Given the description of an element on the screen output the (x, y) to click on. 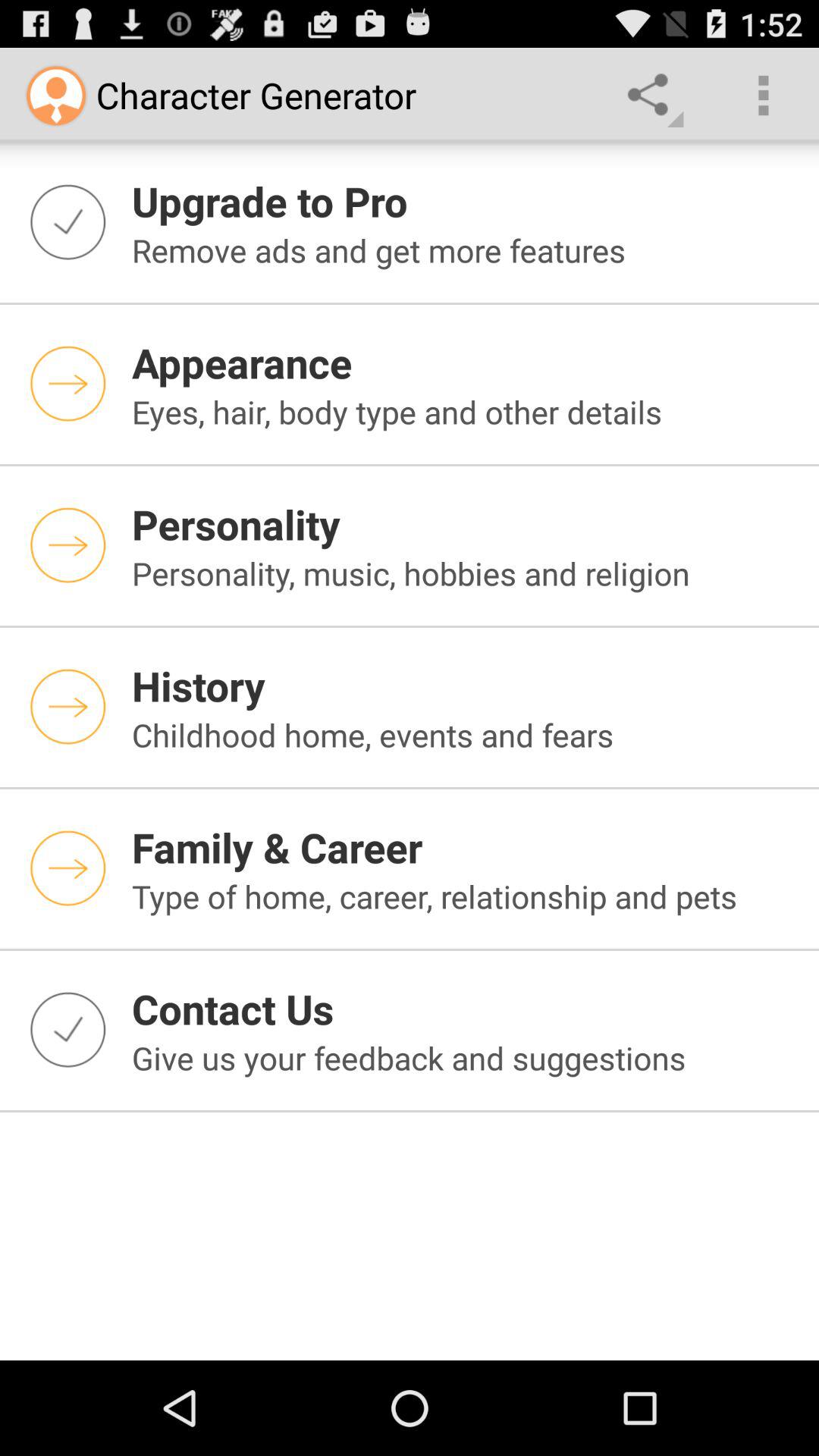
scroll until appearance (465, 362)
